Given the description of an element on the screen output the (x, y) to click on. 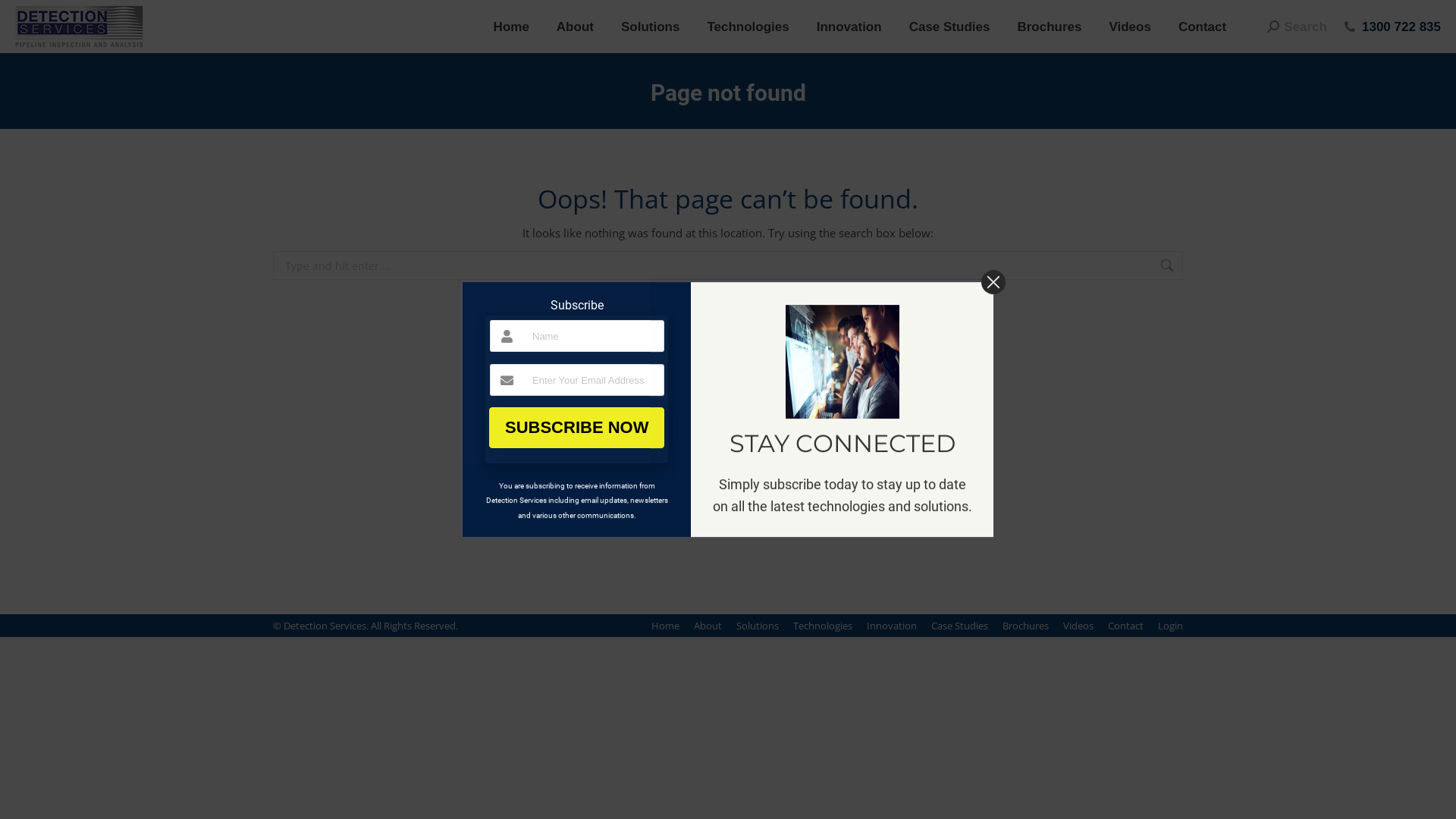
Login Element type: text (1170, 625)
Contact Element type: text (1125, 625)
About Element type: text (574, 26)
Brochures Element type: text (1048, 26)
Videos Element type: text (1129, 26)
Brochures Element type: text (1025, 625)
Go! Element type: text (23, 16)
1300 722 835 Element type: text (1400, 26)
Technologies Element type: text (822, 625)
Go! Element type: text (1206, 267)
Technologies Element type: text (747, 26)
Contact Element type: text (1202, 26)
Innovation Element type: text (848, 26)
Home Element type: text (511, 26)
Case Studies Element type: text (959, 625)
Solutions Element type: text (650, 26)
Search Element type: text (1297, 26)
SUBSCRIBE NOW Element type: text (576, 427)
About Element type: text (707, 625)
Videos Element type: text (1078, 625)
Case Studies Element type: text (949, 26)
Home Element type: text (665, 625)
Innovation Element type: text (891, 625)
Solutions Element type: text (757, 625)
